Given the description of an element on the screen output the (x, y) to click on. 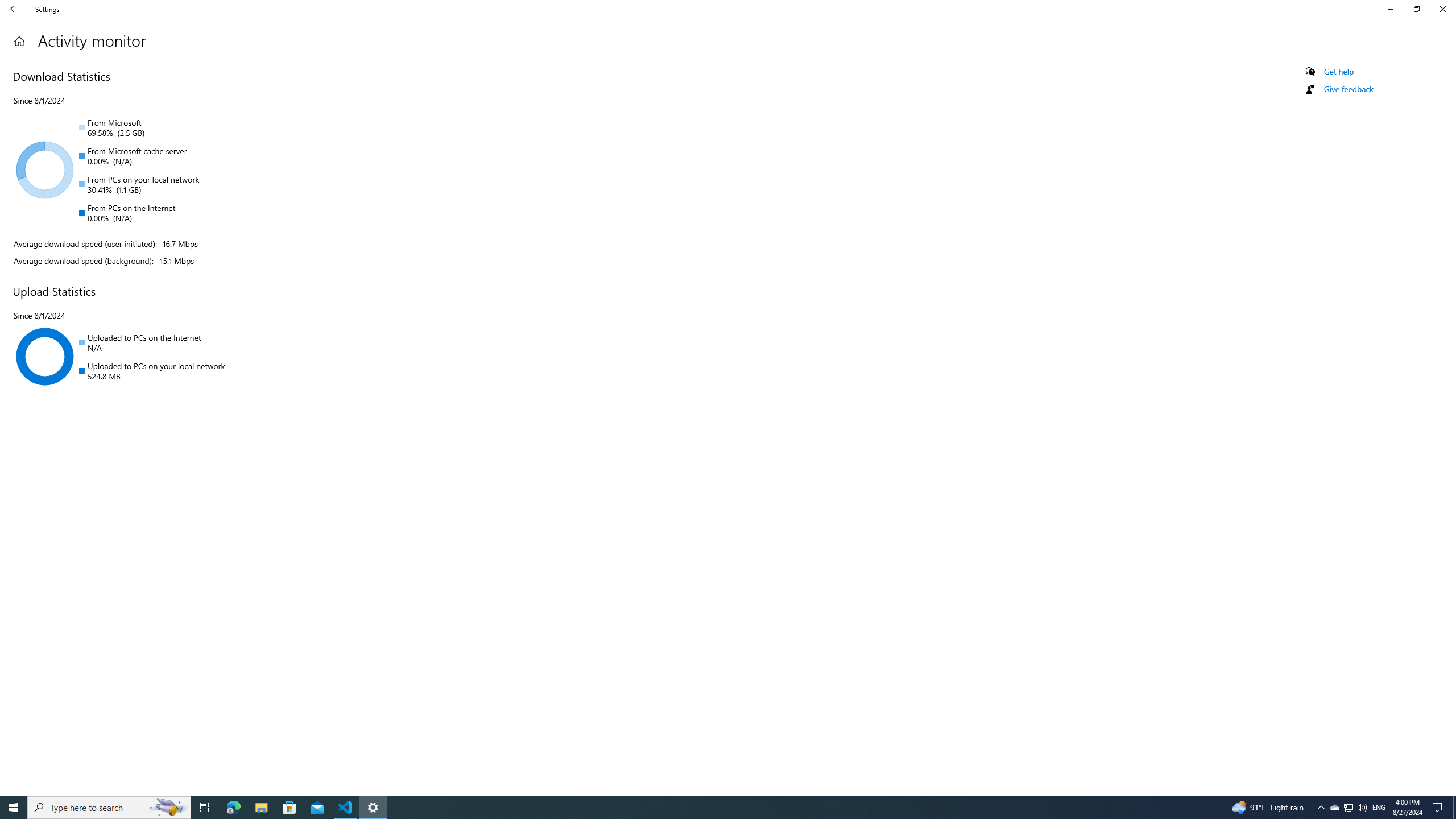
Minimize Settings (1390, 9)
Restore Settings (1416, 9)
Back (13, 9)
Tray Input Indicator - English (United States) (1378, 807)
